Given the description of an element on the screen output the (x, y) to click on. 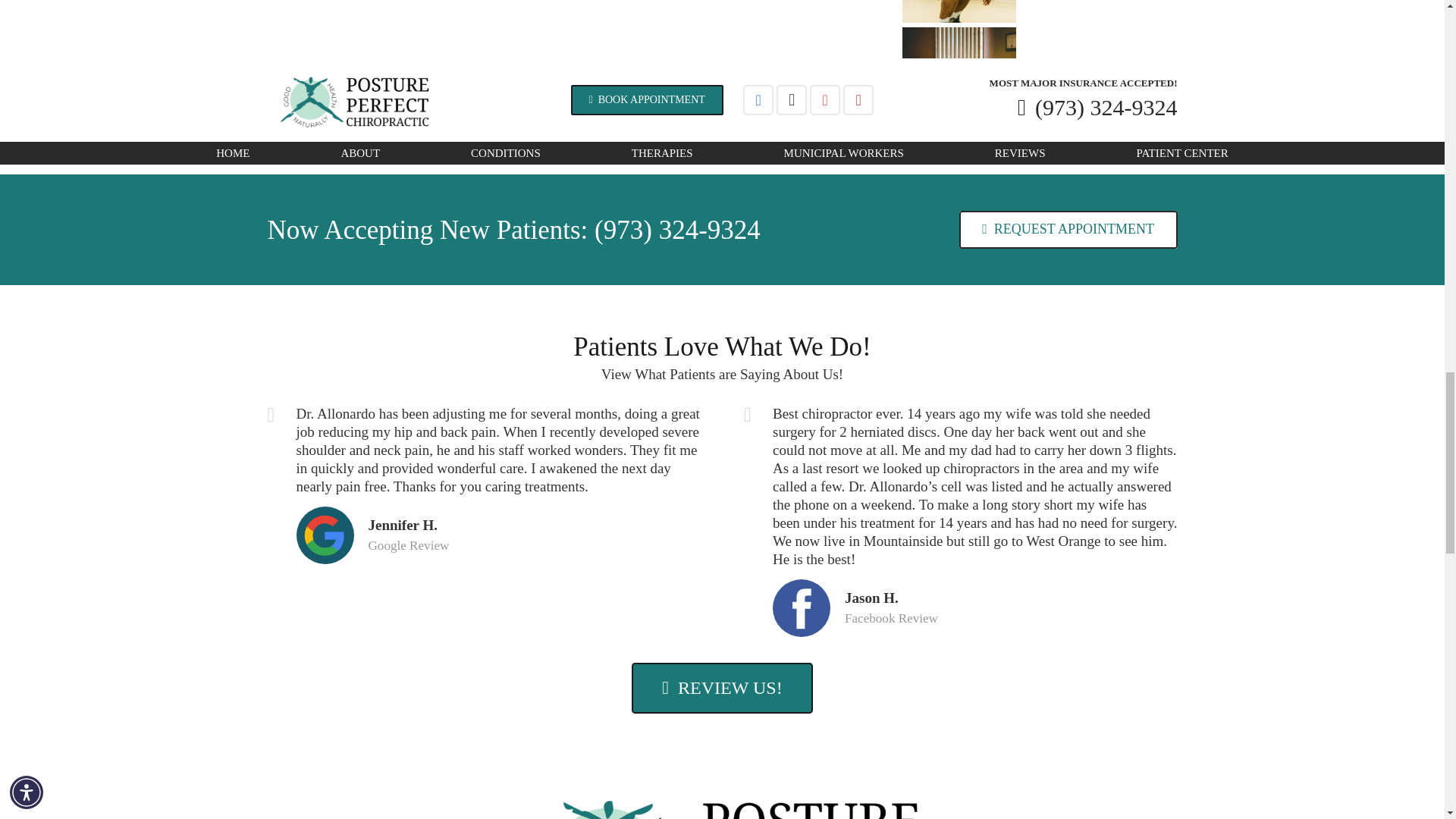
Contact Us (1068, 229)
